Given the description of an element on the screen output the (x, y) to click on. 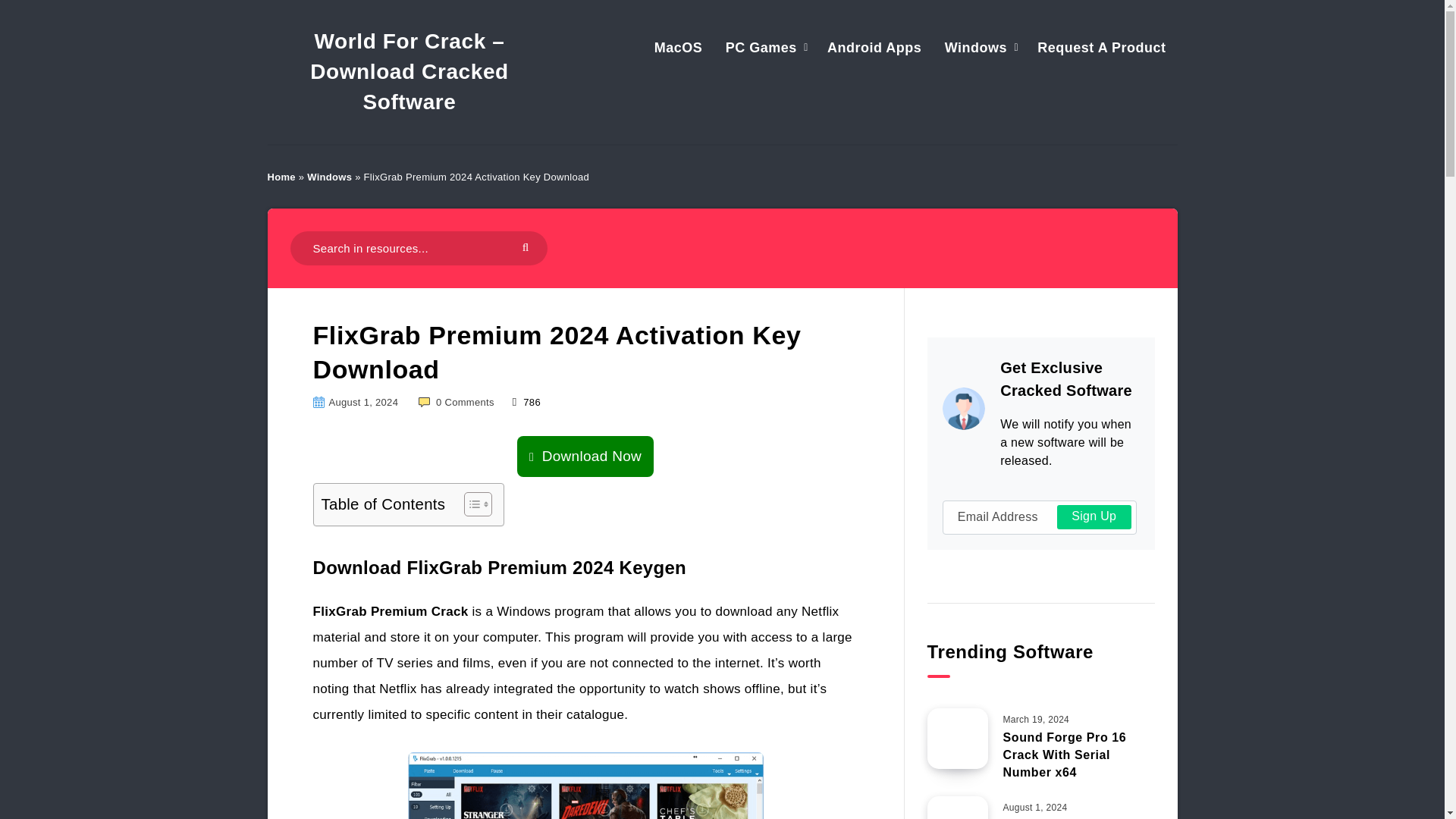
Windows (975, 47)
PC Games (760, 47)
Request A Product (1101, 47)
FlixGrab Premium 2024 Activation Key Download (584, 785)
Sign Up (1094, 516)
MacOS (678, 47)
Android Apps (874, 47)
Windows (329, 176)
0 Comments (458, 401)
786 (526, 401)
Go to comments (458, 401)
Download Now (584, 456)
Home (280, 176)
Download Now (584, 455)
